Given the description of an element on the screen output the (x, y) to click on. 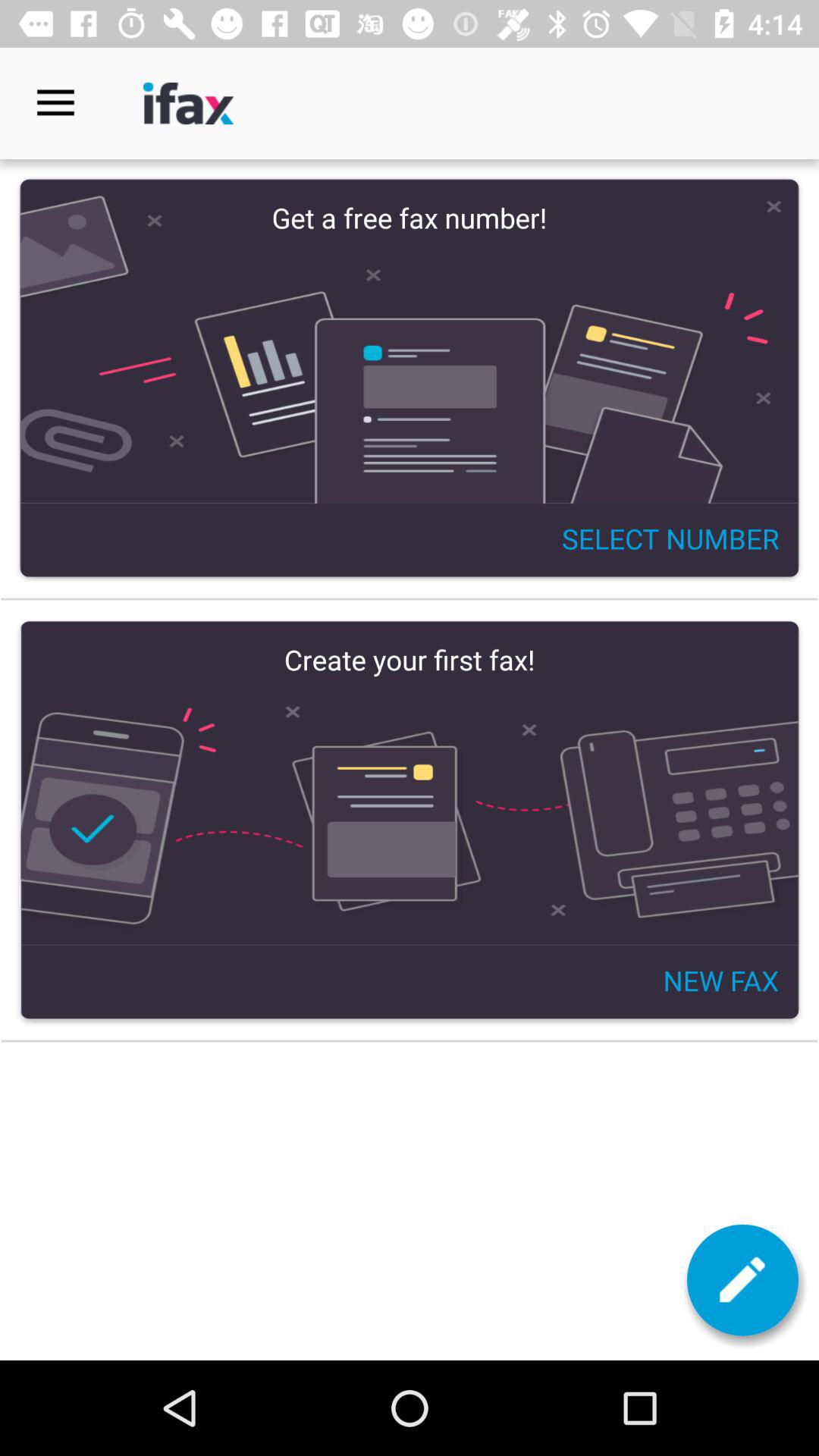
create your first fax new fax (409, 820)
